Given the description of an element on the screen output the (x, y) to click on. 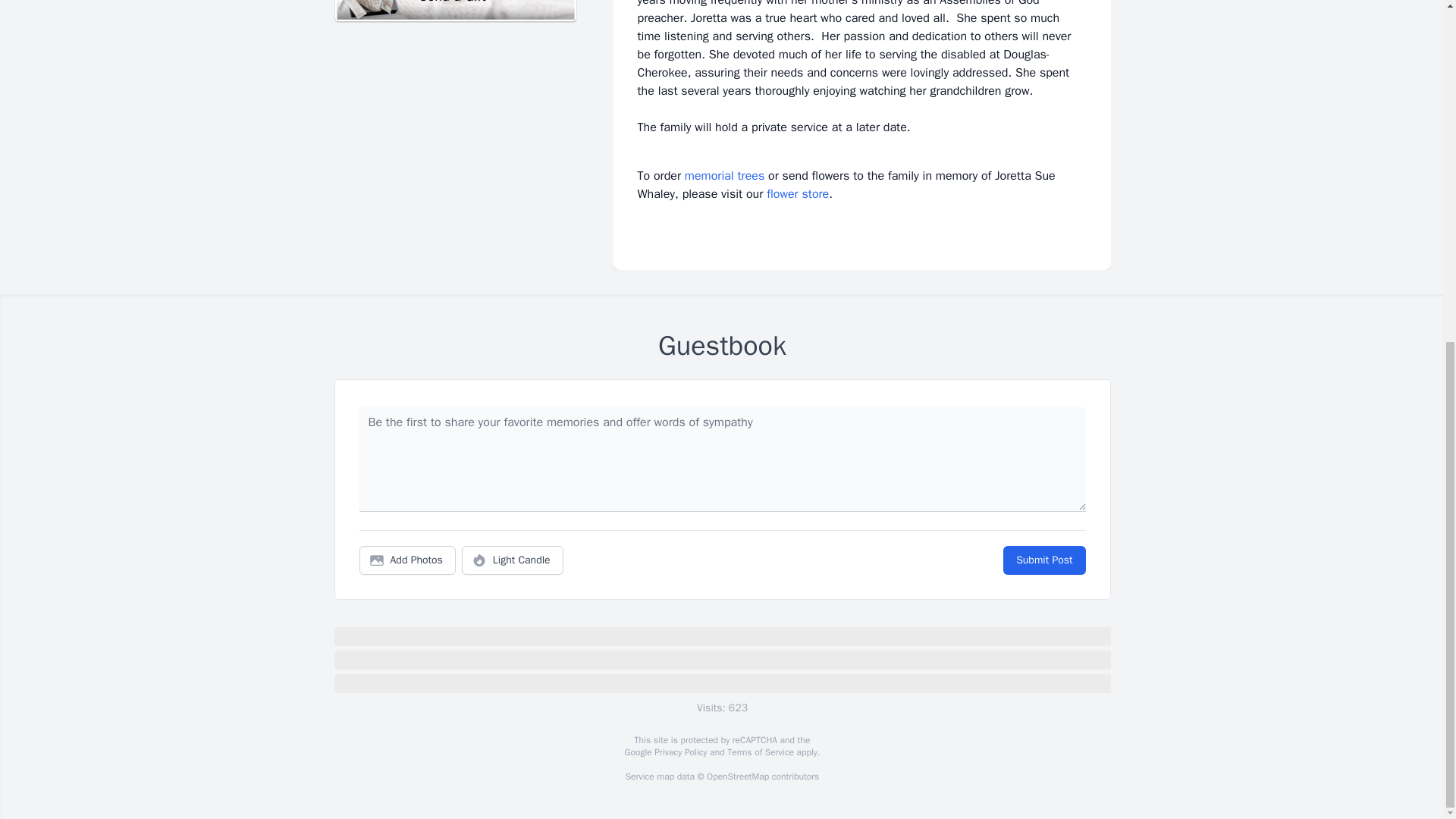
Add Photos (407, 560)
flower store (797, 193)
Terms of Service (759, 752)
Submit Post (1043, 560)
Light Candle (512, 560)
Privacy Policy (679, 752)
memorial trees (724, 175)
Send a Gift (454, 11)
OpenStreetMap (737, 776)
